Given the description of an element on the screen output the (x, y) to click on. 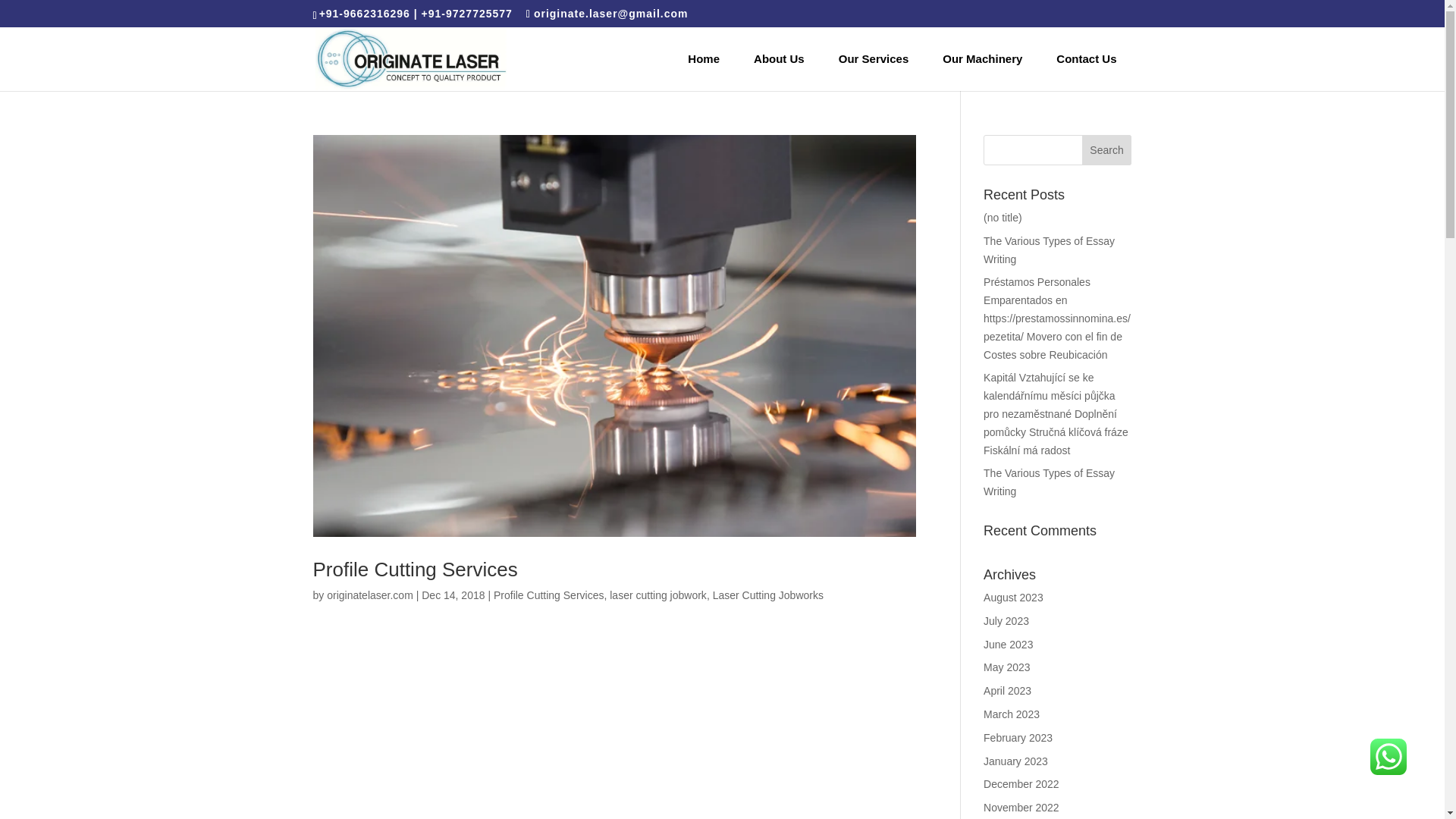
The Various Types of Essay Writing (1049, 250)
originatelaser.com (369, 594)
Search (1106, 150)
The Various Types of Essay Writing (1049, 481)
Search (1106, 150)
About Us (778, 59)
Our Services (874, 59)
Contact Us (1086, 59)
laser cutting jobwork (658, 594)
Profile Cutting Services (548, 594)
Laser Cutting Jobworks (768, 594)
Posts by originatelaser.com (369, 594)
Home (703, 59)
Our Machinery (981, 59)
Profile Cutting Services (414, 568)
